Given the description of an element on the screen output the (x, y) to click on. 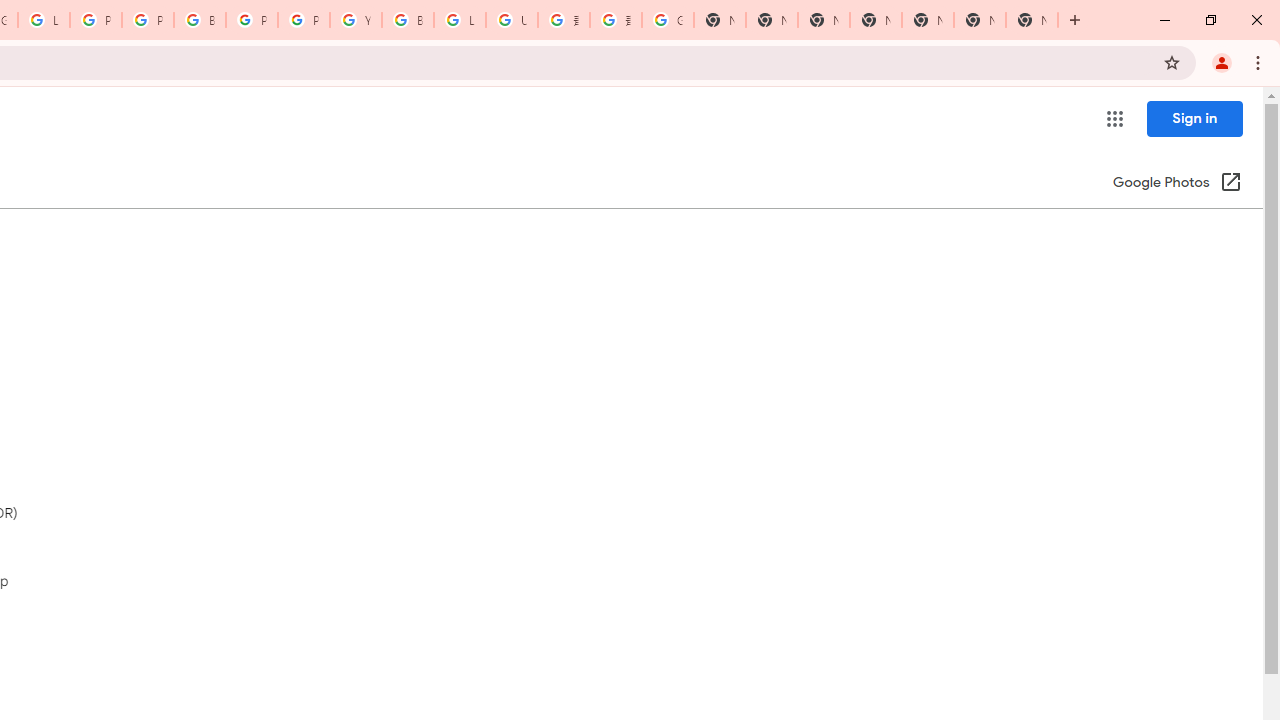
YouTube (355, 20)
Google Images (667, 20)
New Tab (1032, 20)
Privacy Help Center - Policies Help (147, 20)
